Given the description of an element on the screen output the (x, y) to click on. 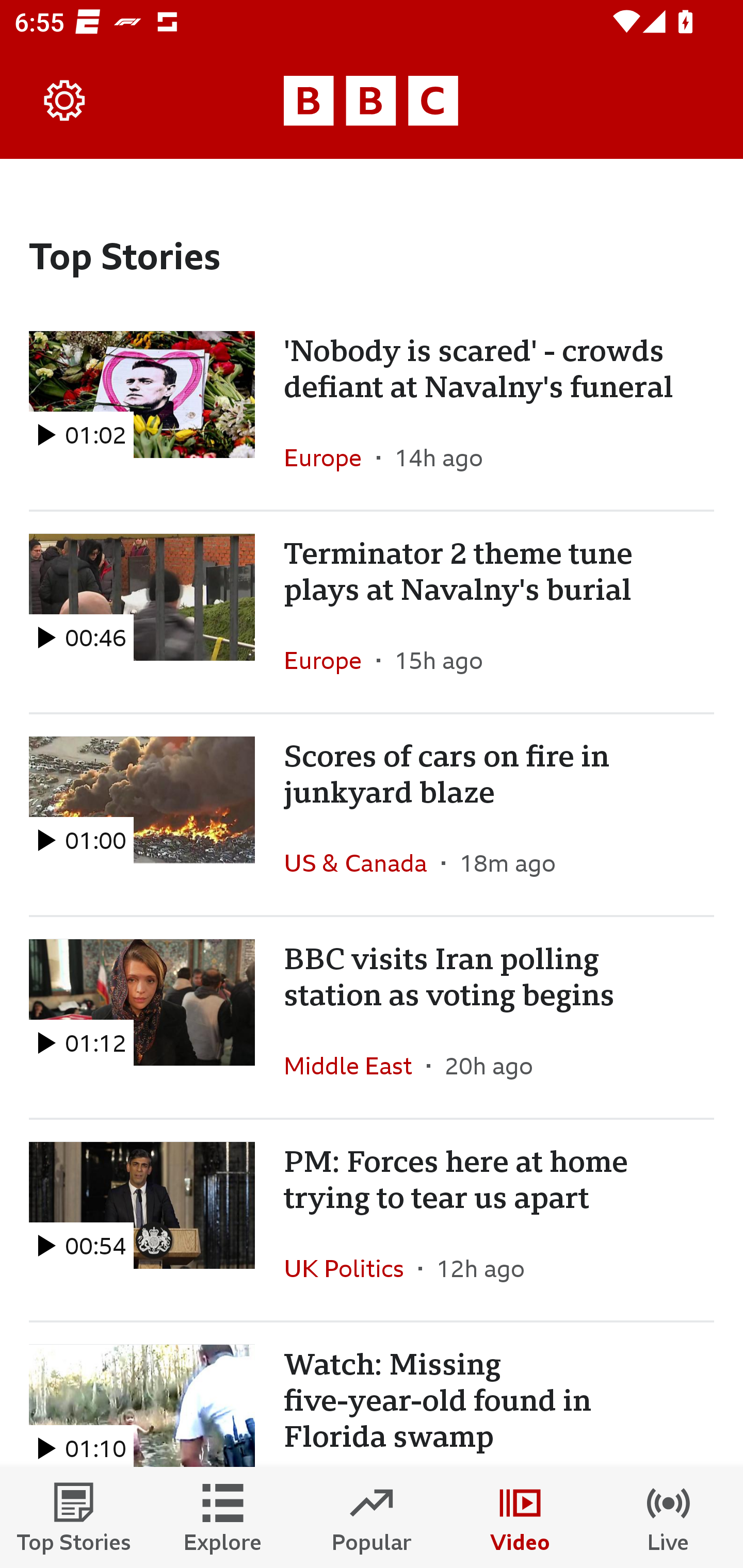
Settings (64, 100)
Europe In the section Europe (329, 457)
Europe In the section Europe (329, 659)
US & Canada In the section US & Canada (362, 862)
Middle East In the section Middle East (354, 1064)
UK Politics In the section UK Politics (350, 1268)
Top Stories (74, 1517)
Explore (222, 1517)
Popular (371, 1517)
Live (668, 1517)
